Given the description of an element on the screen output the (x, y) to click on. 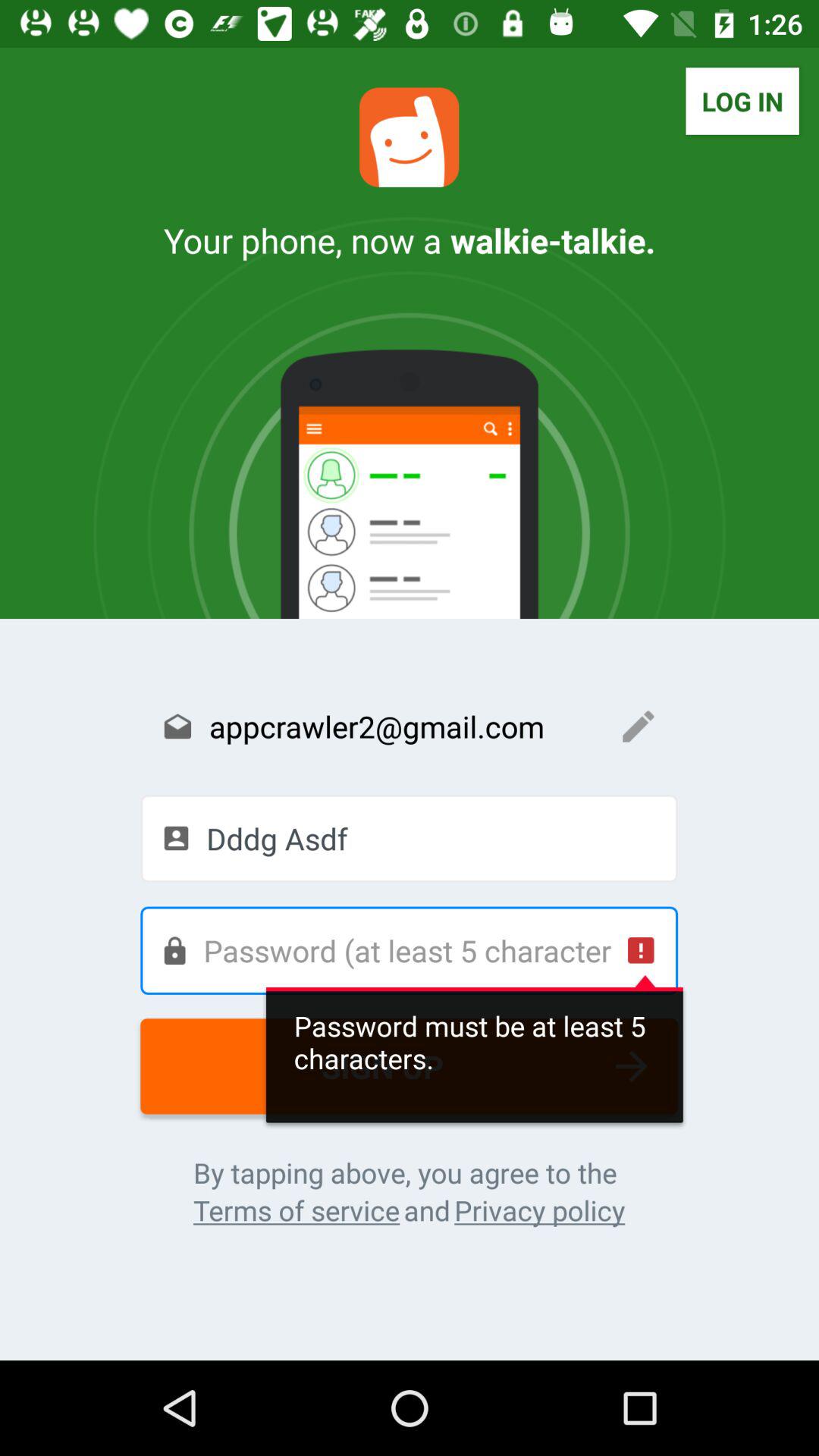
click the icon above sign up (408, 950)
